Given the description of an element on the screen output the (x, y) to click on. 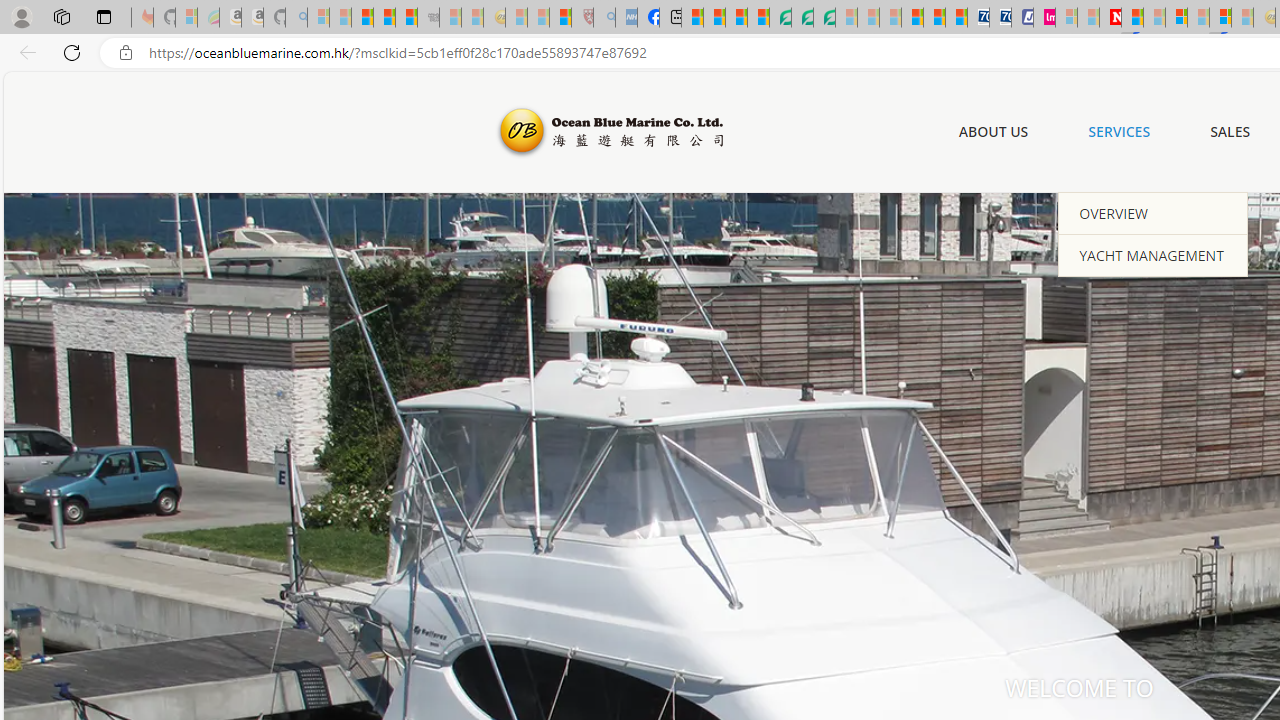
Jobs - lastminute.com Investor Portal (1044, 17)
New Report Confirms 2023 Was Record Hot | Watch (406, 17)
YACHT MANAGEMENT (1153, 254)
LendingTree - Compare Lenders (780, 17)
The Weather Channel - MSN (362, 17)
OVERVIEW (1153, 213)
Ocean Blue Marine (608, 132)
ABOUT US (993, 132)
